Given the description of an element on the screen output the (x, y) to click on. 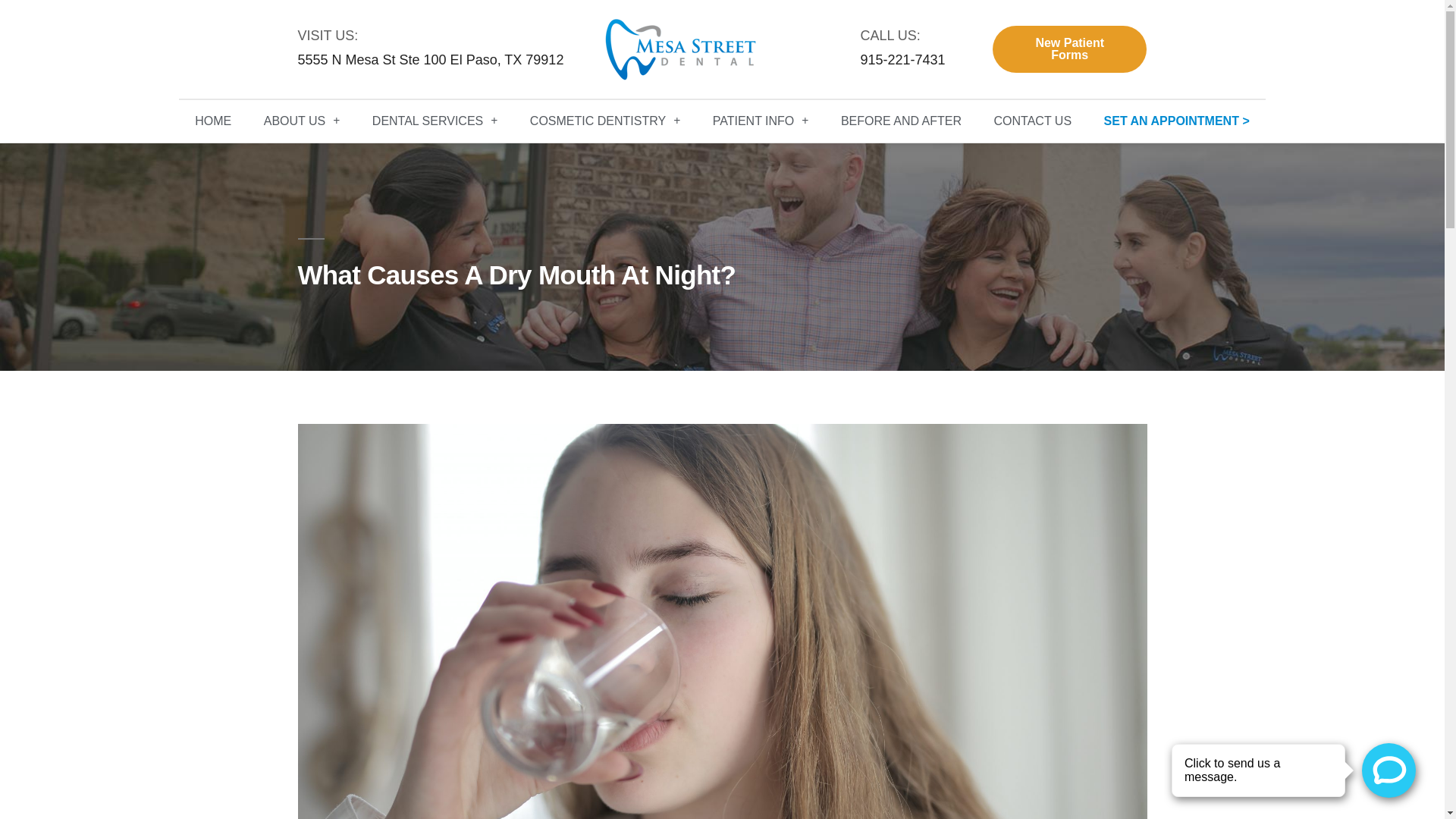
Home (213, 120)
About Us (301, 120)
Dental Services (434, 120)
DENTAL SERVICES (434, 120)
ABOUT US (301, 120)
Cosmetic Dentistry (605, 120)
915-221-7431 (902, 59)
HOME (213, 120)
PATIENT INFO (761, 120)
New Patient Forms (1068, 48)
COSMETIC DENTISTRY (605, 120)
5555 N Mesa St Ste 100 El Paso, TX 79912 (430, 59)
